Given the description of an element on the screen output the (x, y) to click on. 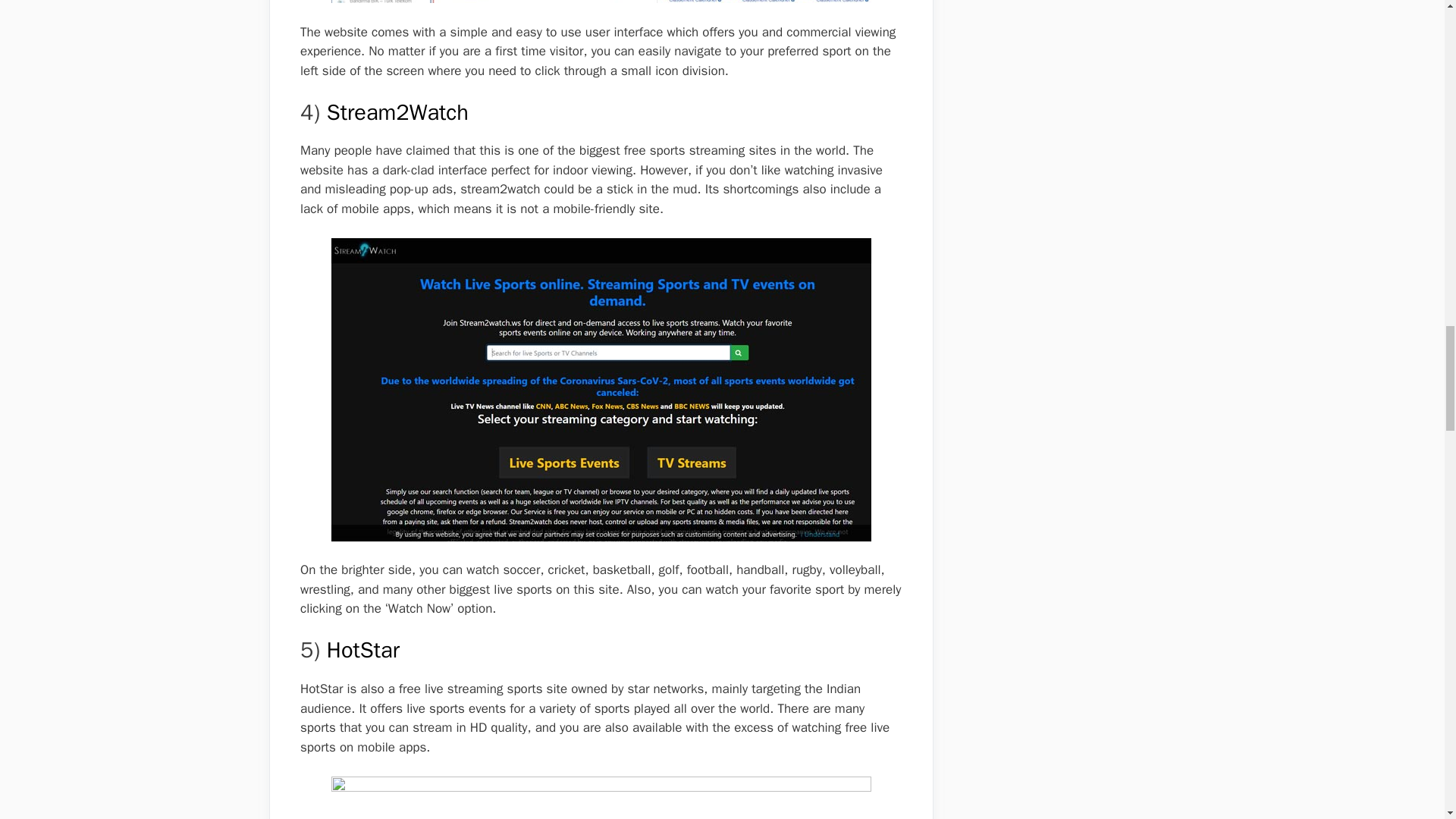
Stream2Watch (397, 112)
HotStar (362, 650)
